Given the description of an element on the screen output the (x, y) to click on. 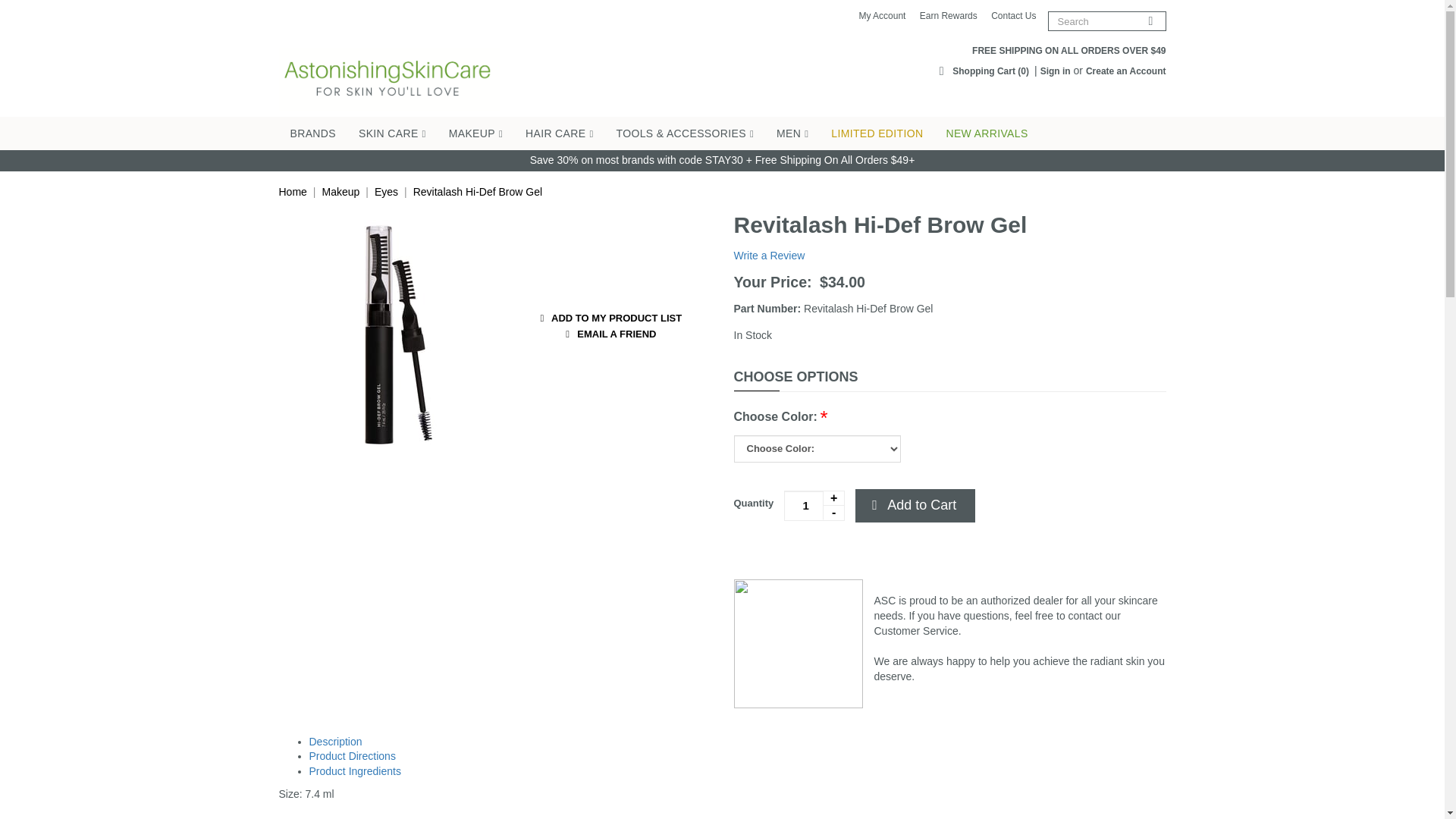
Sign in (1055, 71)
Contact Us (1013, 15)
MAKEUP (475, 133)
Earn Rewards (948, 15)
Create an Account (1126, 71)
BRANDS (313, 133)
SKIN CARE (392, 133)
HAIR CARE (559, 133)
My Account (882, 15)
1 (814, 505)
